Given the description of an element on the screen output the (x, y) to click on. 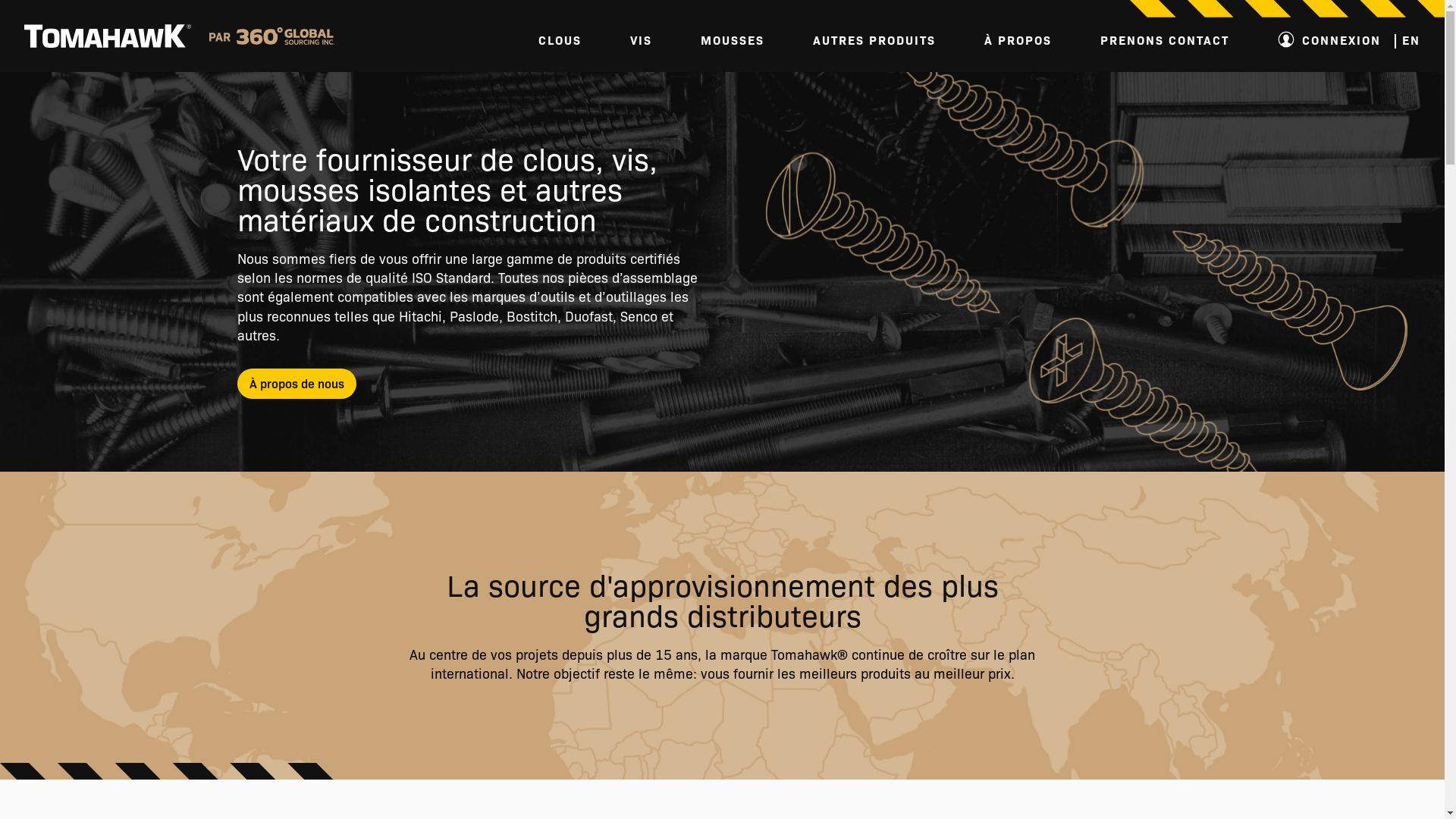
MOUSSES Element type: text (732, 39)
PRENONS CONTACT Element type: text (1164, 39)
VIS Element type: text (641, 39)
CLOUS Element type: text (559, 39)
AUTRES PRODUITS Element type: text (873, 39)
EN Element type: text (1411, 39)
